Given the description of an element on the screen output the (x, y) to click on. 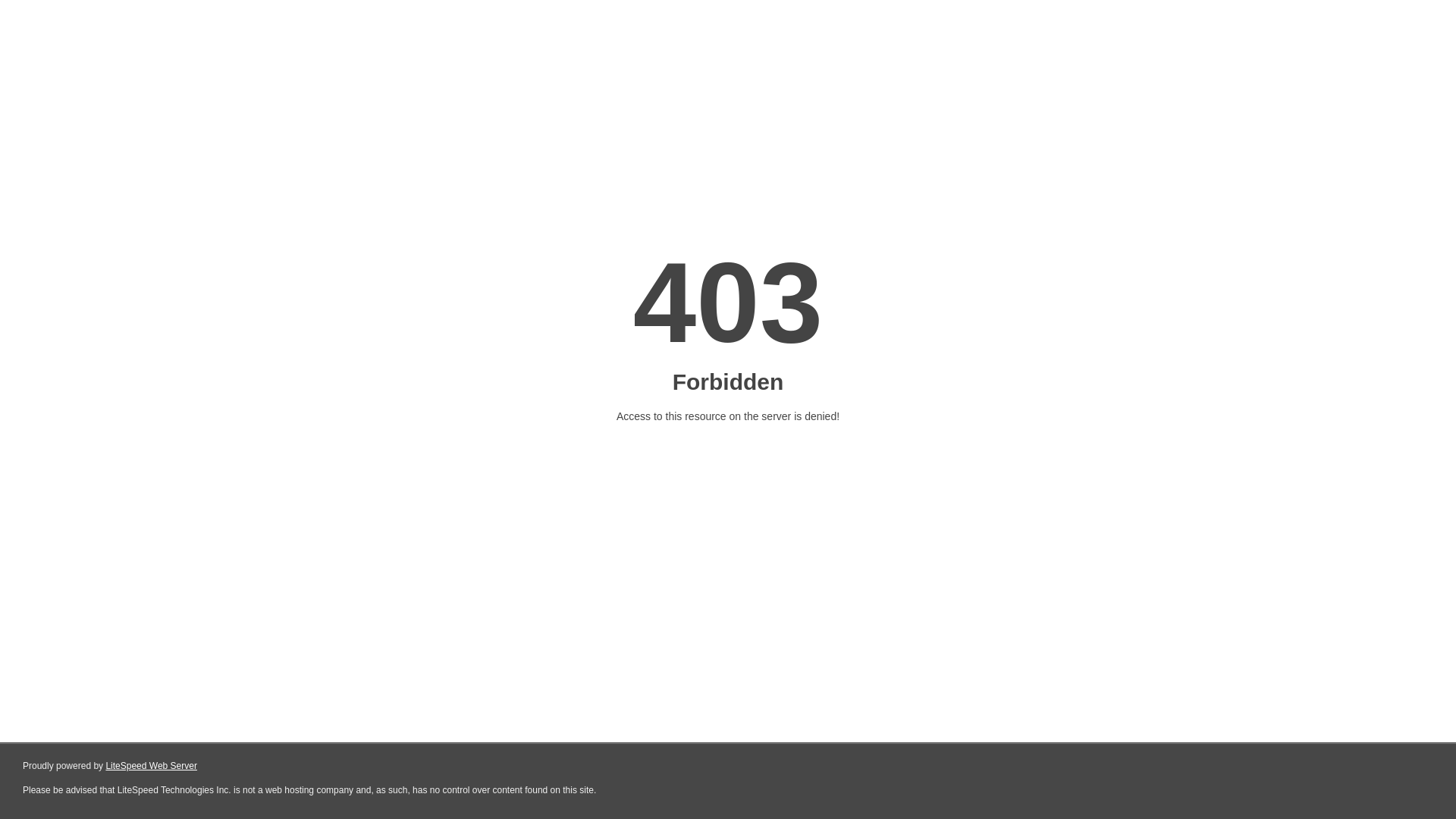
LiteSpeed Web Server Element type: text (151, 765)
